Given the description of an element on the screen output the (x, y) to click on. 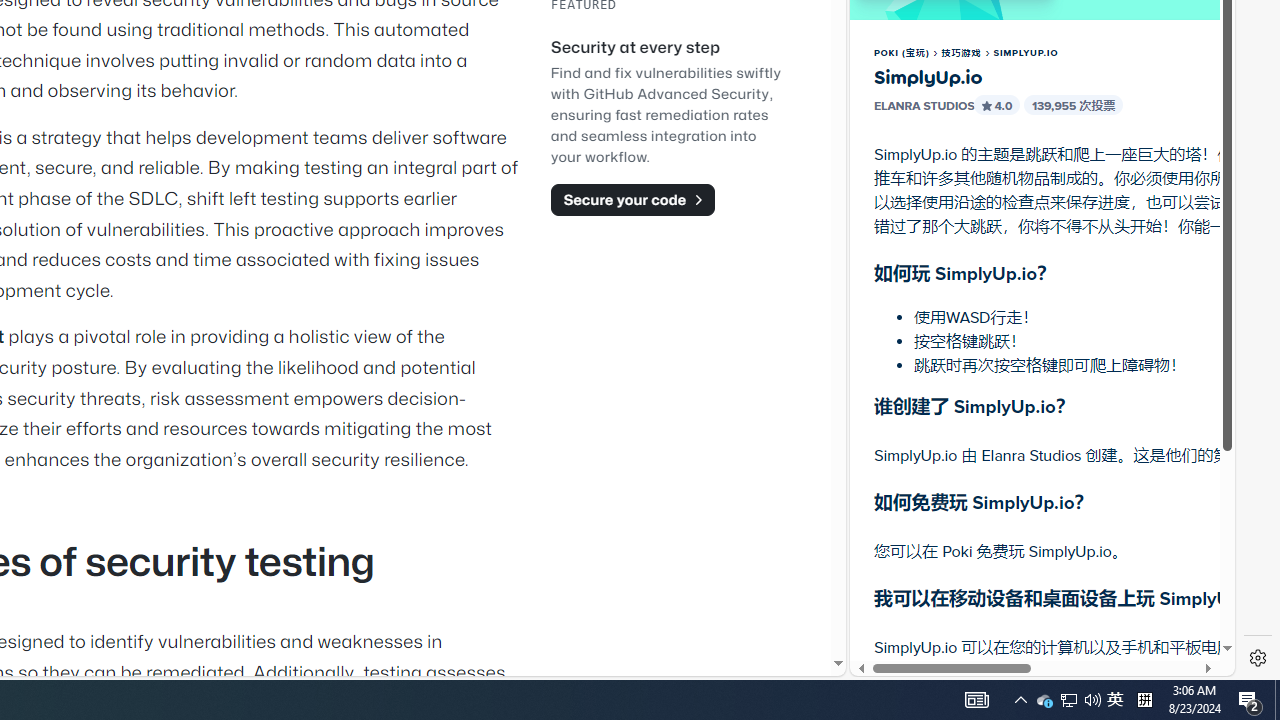
Poki (1034, 606)
Secure your code (632, 199)
Combat Reloaded (1092, 200)
Search results from poki.com (1005, 59)
Hills of Steel Hills of Steel poki.com (943, 245)
Combat Reloaded Combat Reloaded poki.com (1092, 245)
